Given the description of an element on the screen output the (x, y) to click on. 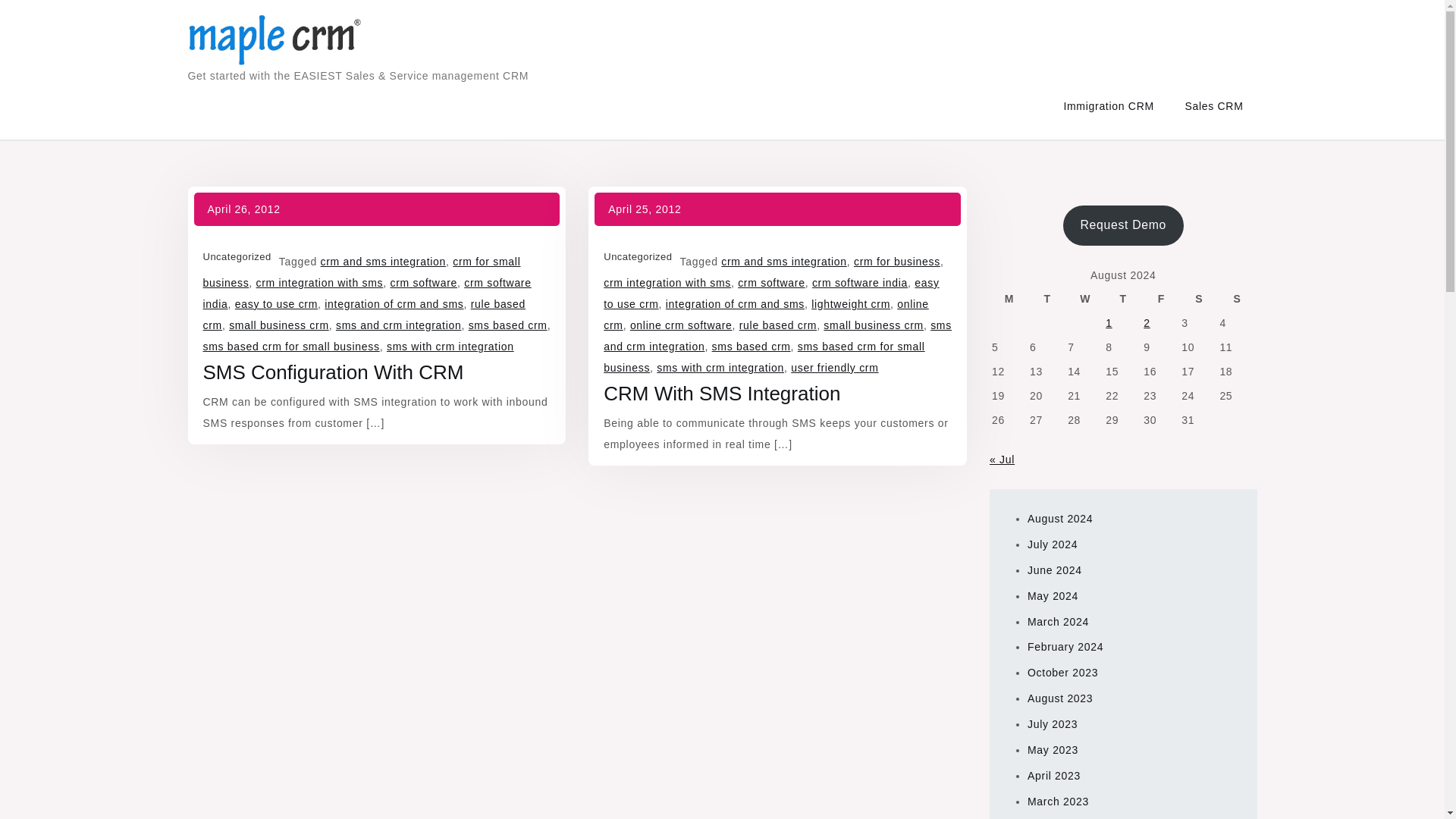
Friday (1160, 298)
crm and sms integration (383, 261)
integration of crm and sms (735, 304)
Thursday (1123, 298)
crm software india (367, 293)
sms and crm integration (778, 335)
Sales CRM (1213, 105)
sms based crm for small business (764, 356)
Sunday (1236, 298)
online crm software (681, 325)
